Given the description of an element on the screen output the (x, y) to click on. 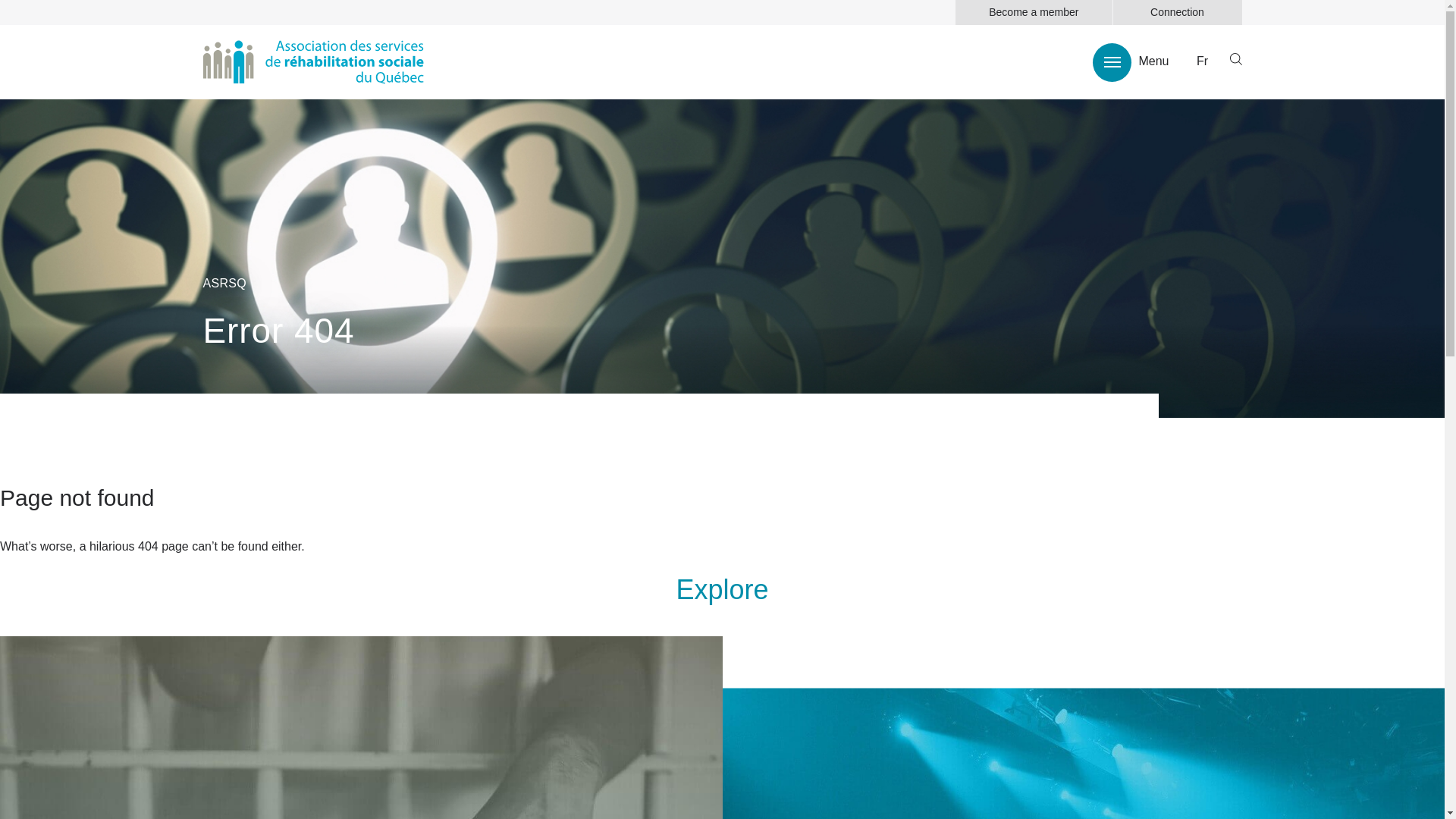
Connection Element type: text (1177, 12)
Become a member Element type: text (1033, 12)
Menu Element type: text (1130, 61)
